Given the description of an element on the screen output the (x, y) to click on. 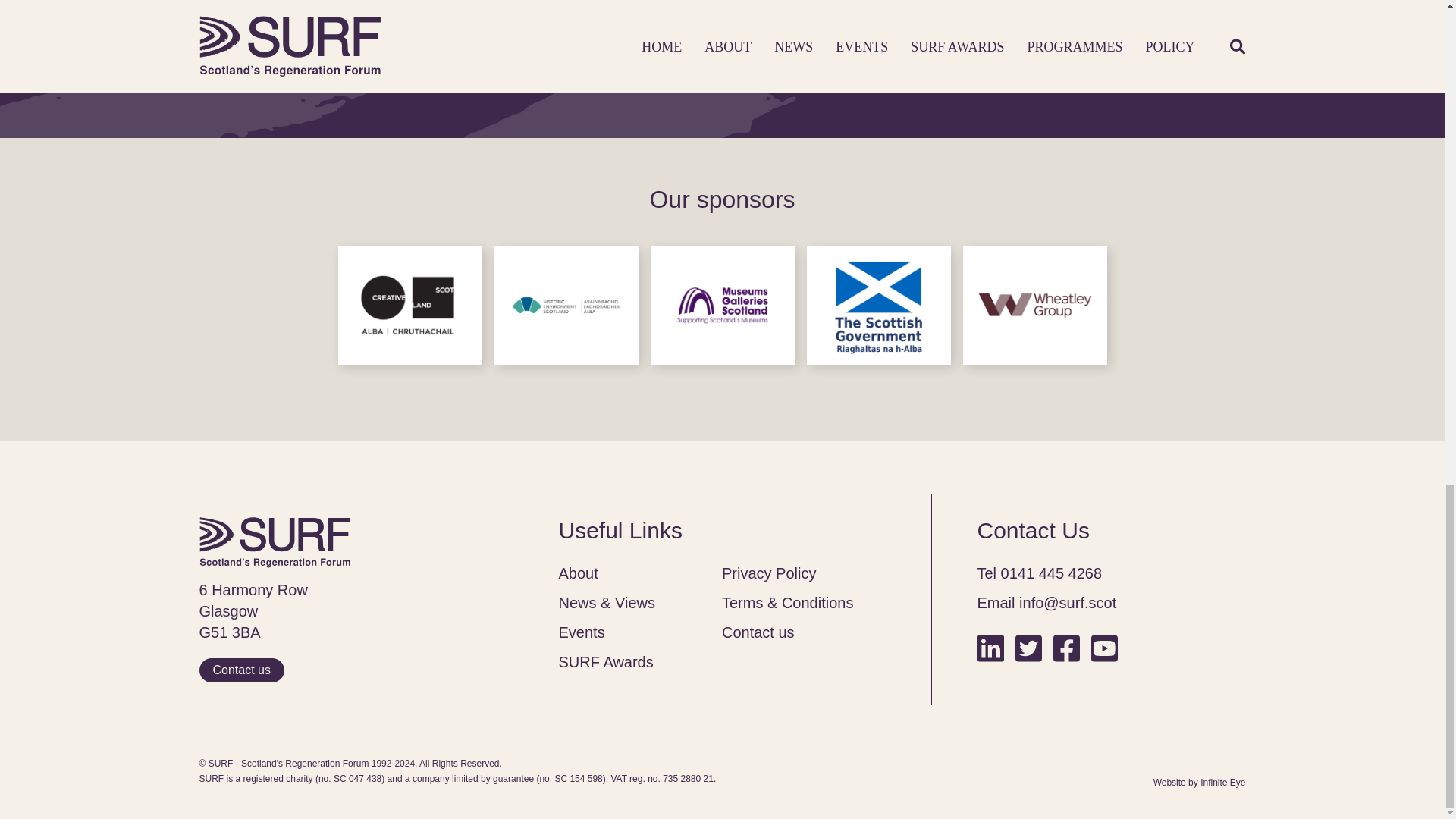
HES-logo (567, 305)
wheatley-logo (1034, 305)
MGS-logo (722, 305)
creative-scot-logo-bw (409, 305)
Scotgov-logo (878, 305)
